Given the description of an element on the screen output the (x, y) to click on. 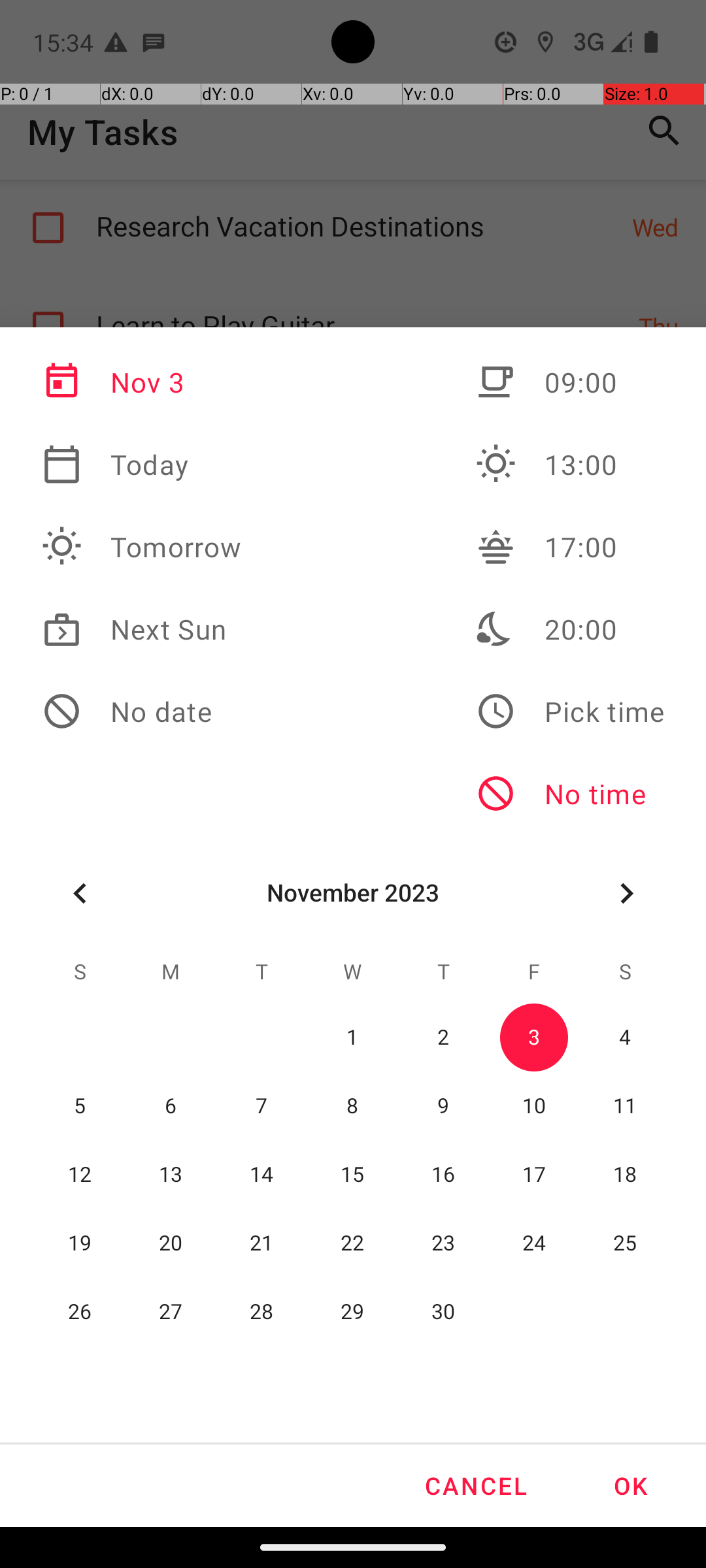
Nov 3 Element type: android.widget.CompoundButton (141, 382)
Tomorrow Element type: android.widget.CompoundButton (141, 546)
Next Sun Element type: android.widget.CompoundButton (141, 629)
